Given the description of an element on the screen output the (x, y) to click on. 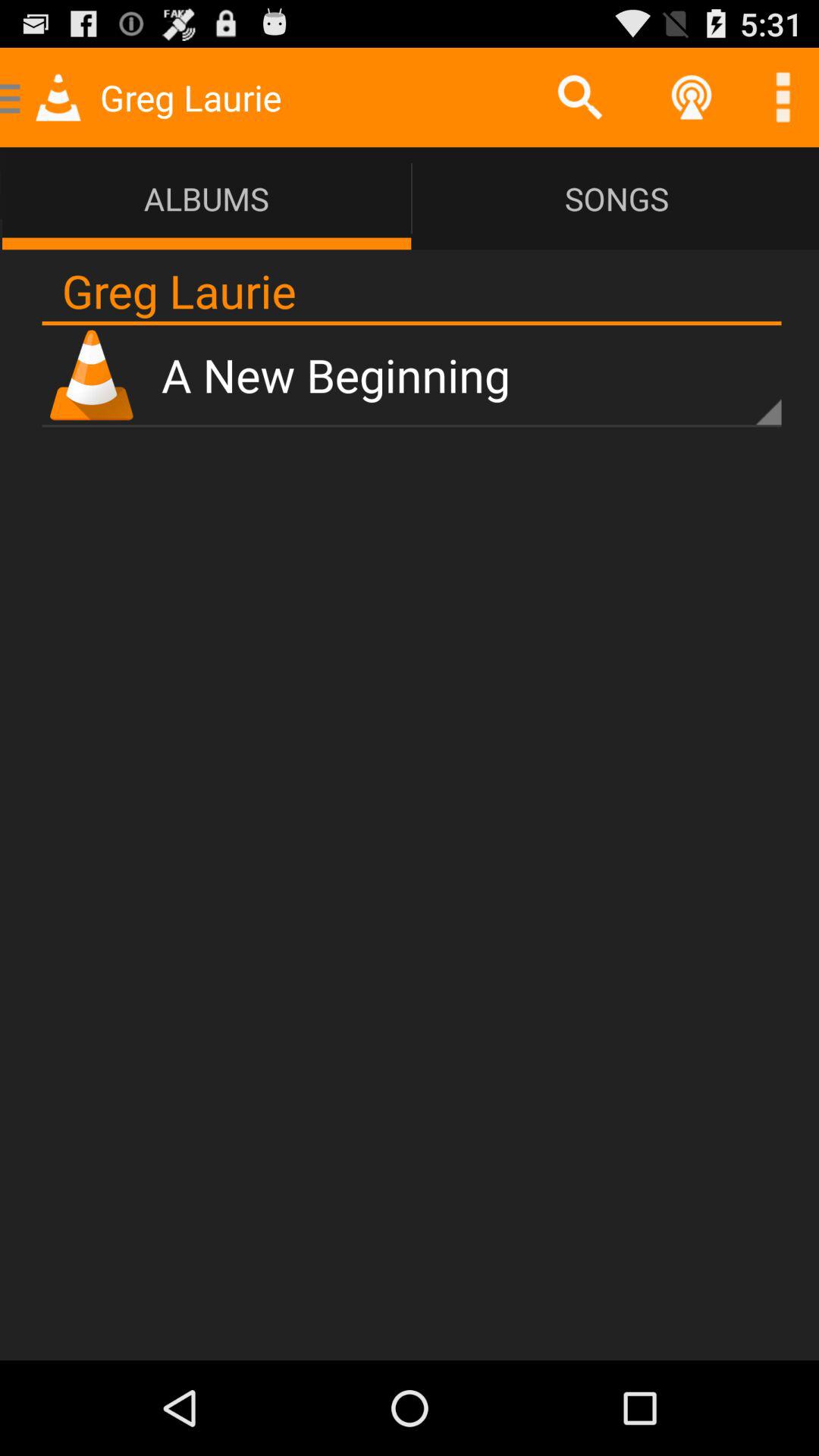
view options (783, 97)
